Given the description of an element on the screen output the (x, y) to click on. 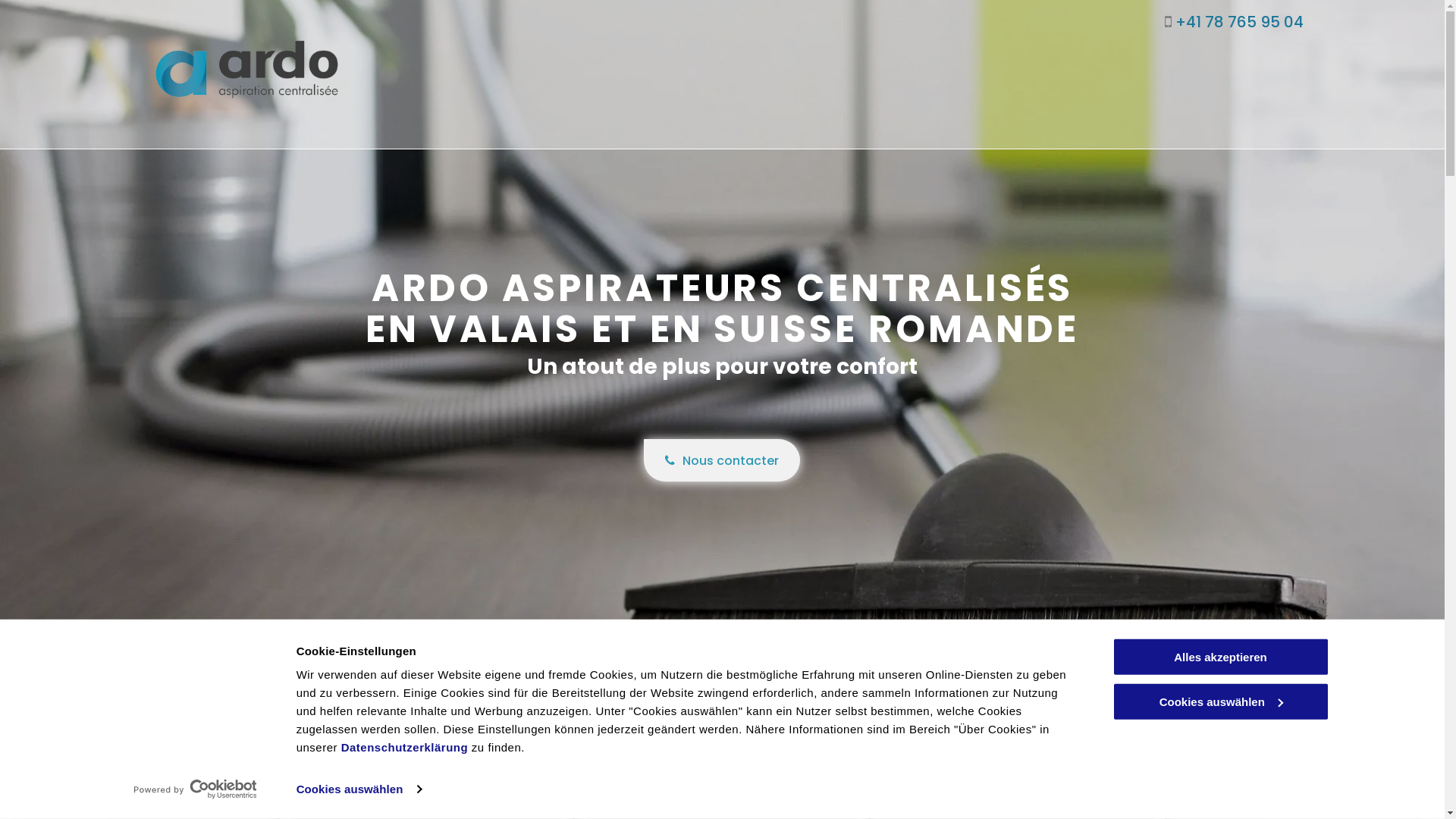
+41 78 765 95 04 Element type: text (1239, 21)
Alles akzeptieren Element type: text (1219, 656)
Nous contacter Element type: text (721, 460)
